Given the description of an element on the screen output the (x, y) to click on. 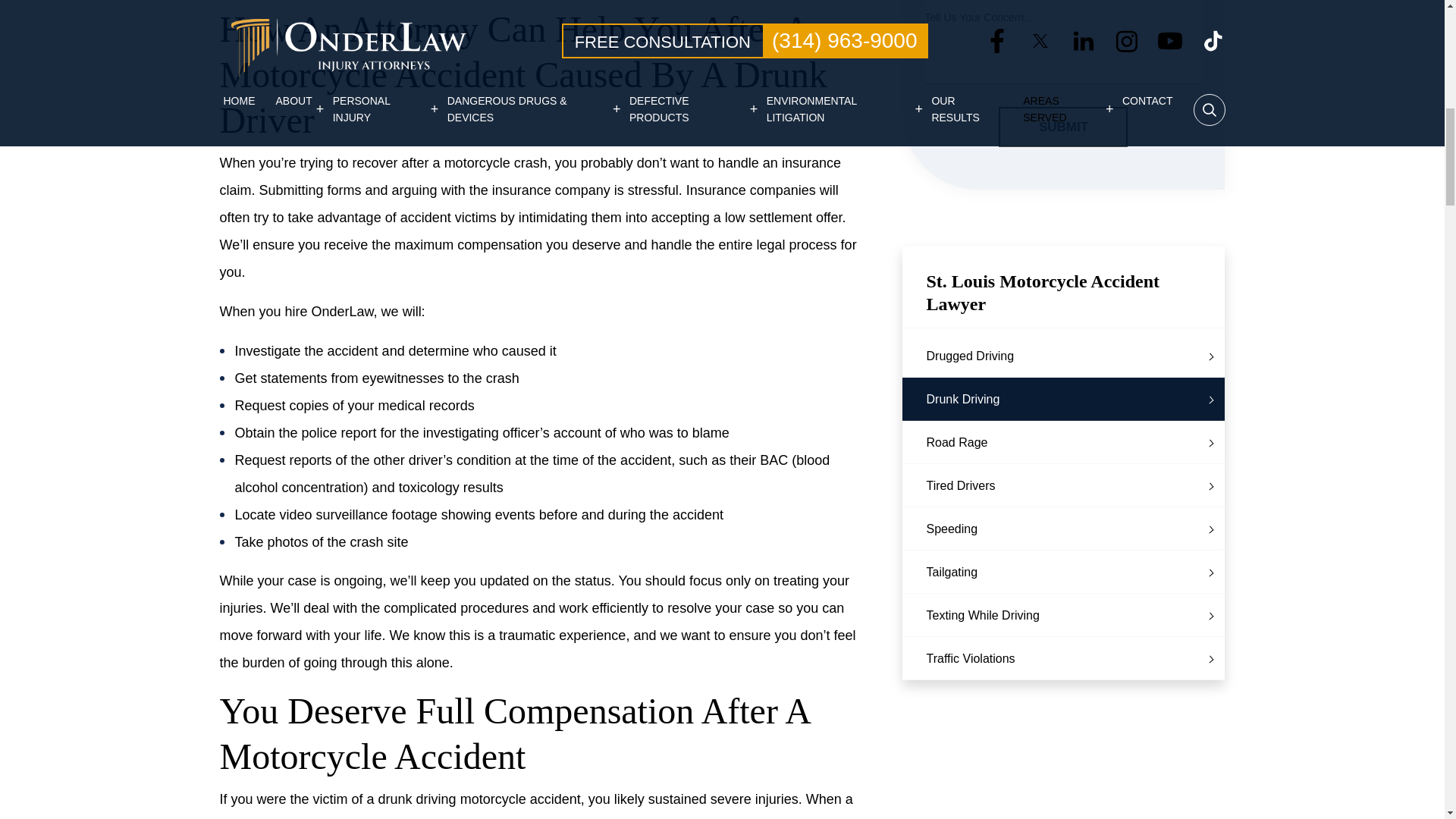
Submit (1062, 127)
